Given the description of an element on the screen output the (x, y) to click on. 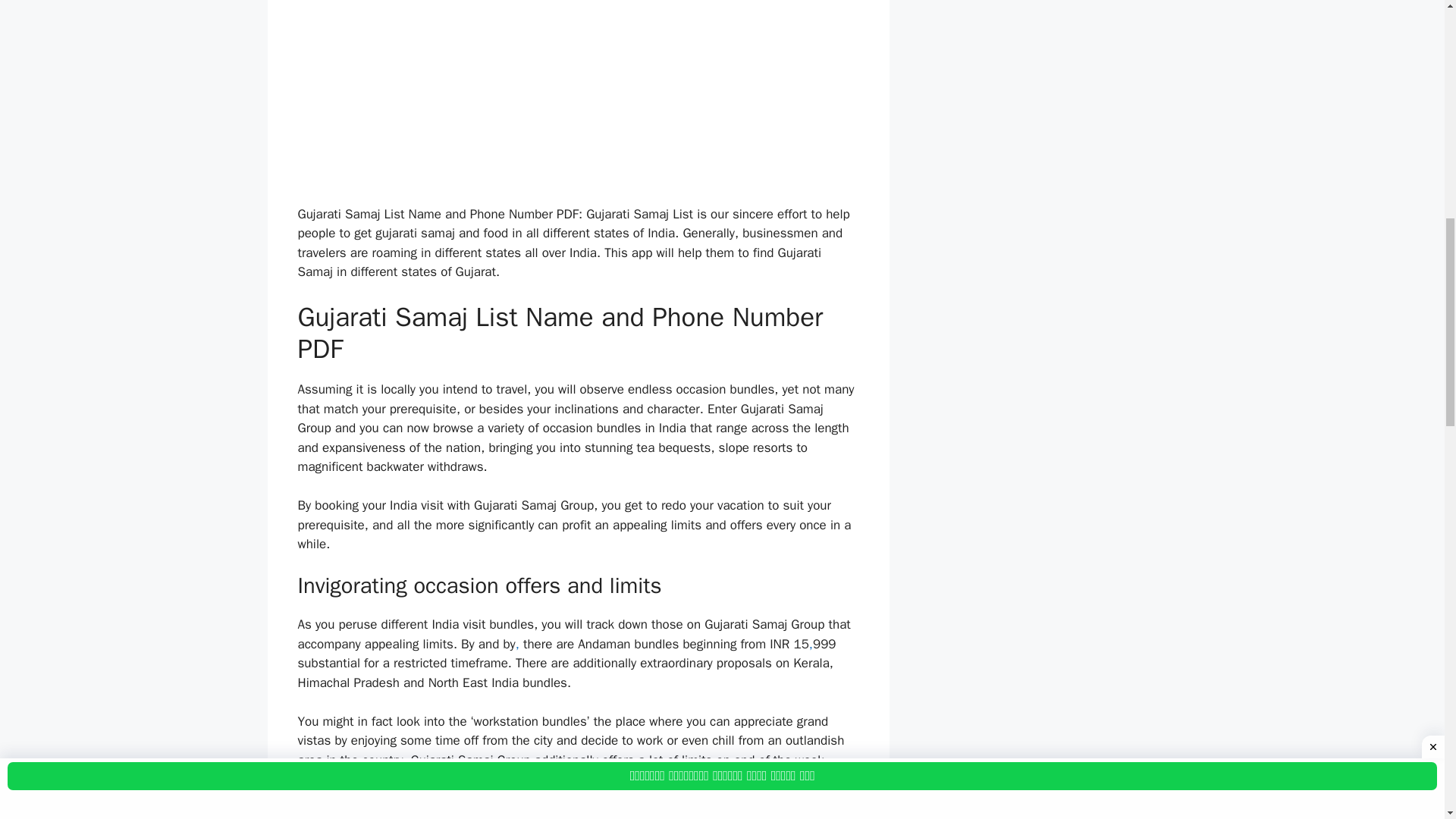
, (517, 643)
, (810, 643)
Advertisement (578, 99)
